Given the description of an element on the screen output the (x, y) to click on. 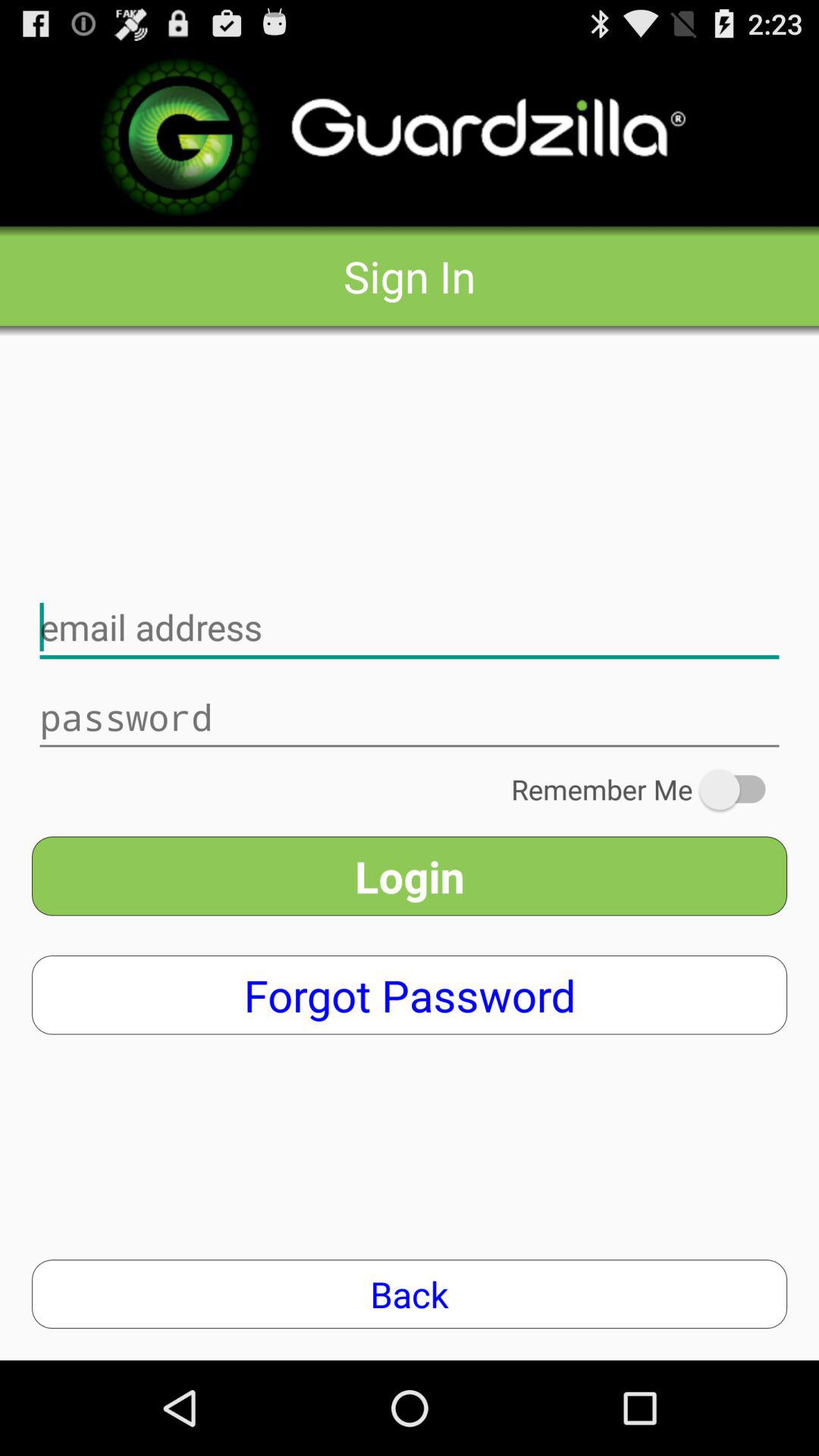
turn off the icon below the login (409, 994)
